Given the description of an element on the screen output the (x, y) to click on. 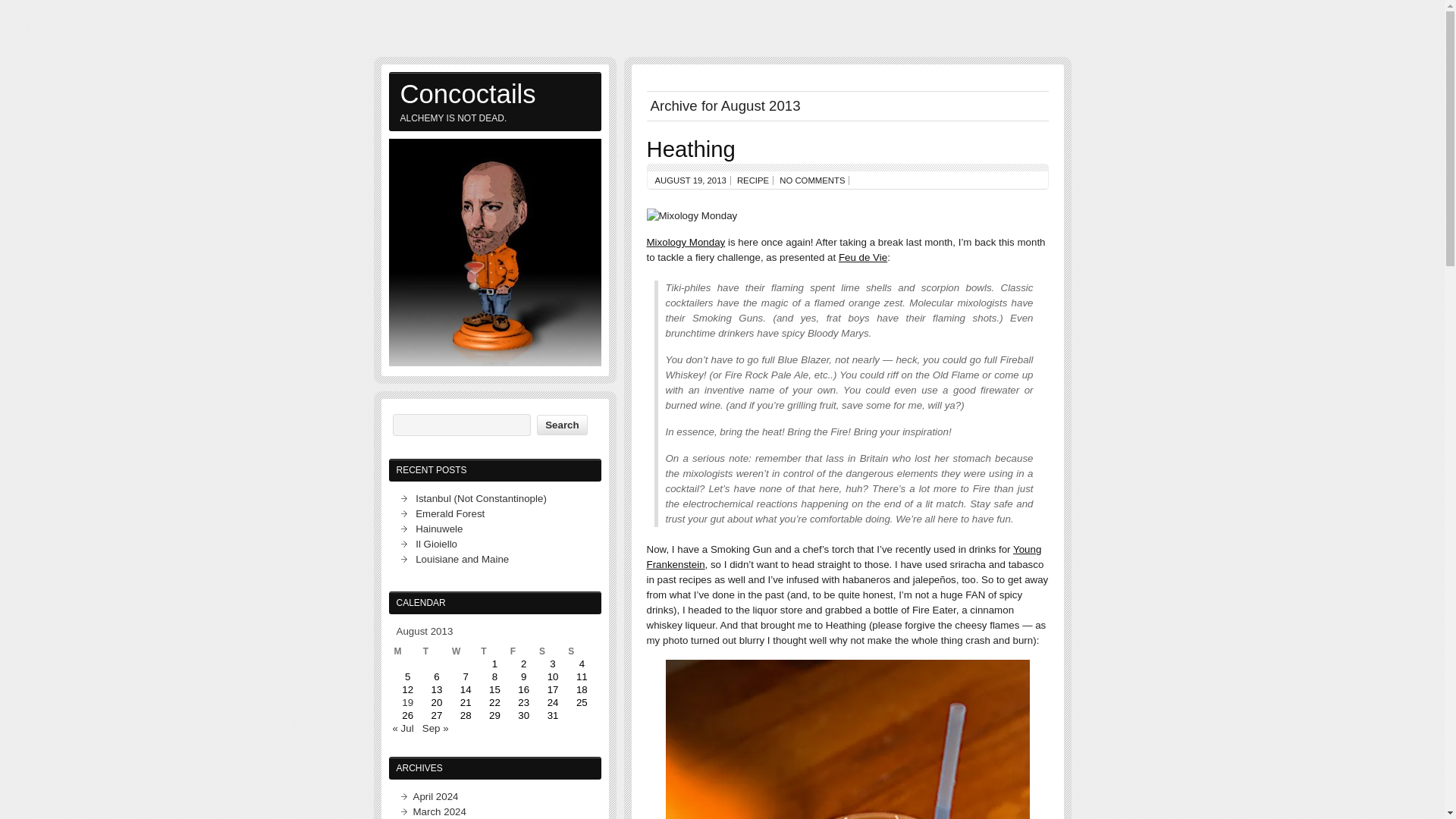
Sunday (581, 651)
Concoctails (493, 92)
Emerald Forest (449, 513)
AUGUST 19, 2013 (690, 180)
Monday (408, 651)
NO COMMENTS (811, 180)
Friday (524, 651)
Feu de Vie (862, 256)
Il Gioiello (435, 543)
March 2024 (438, 811)
